Given the description of an element on the screen output the (x, y) to click on. 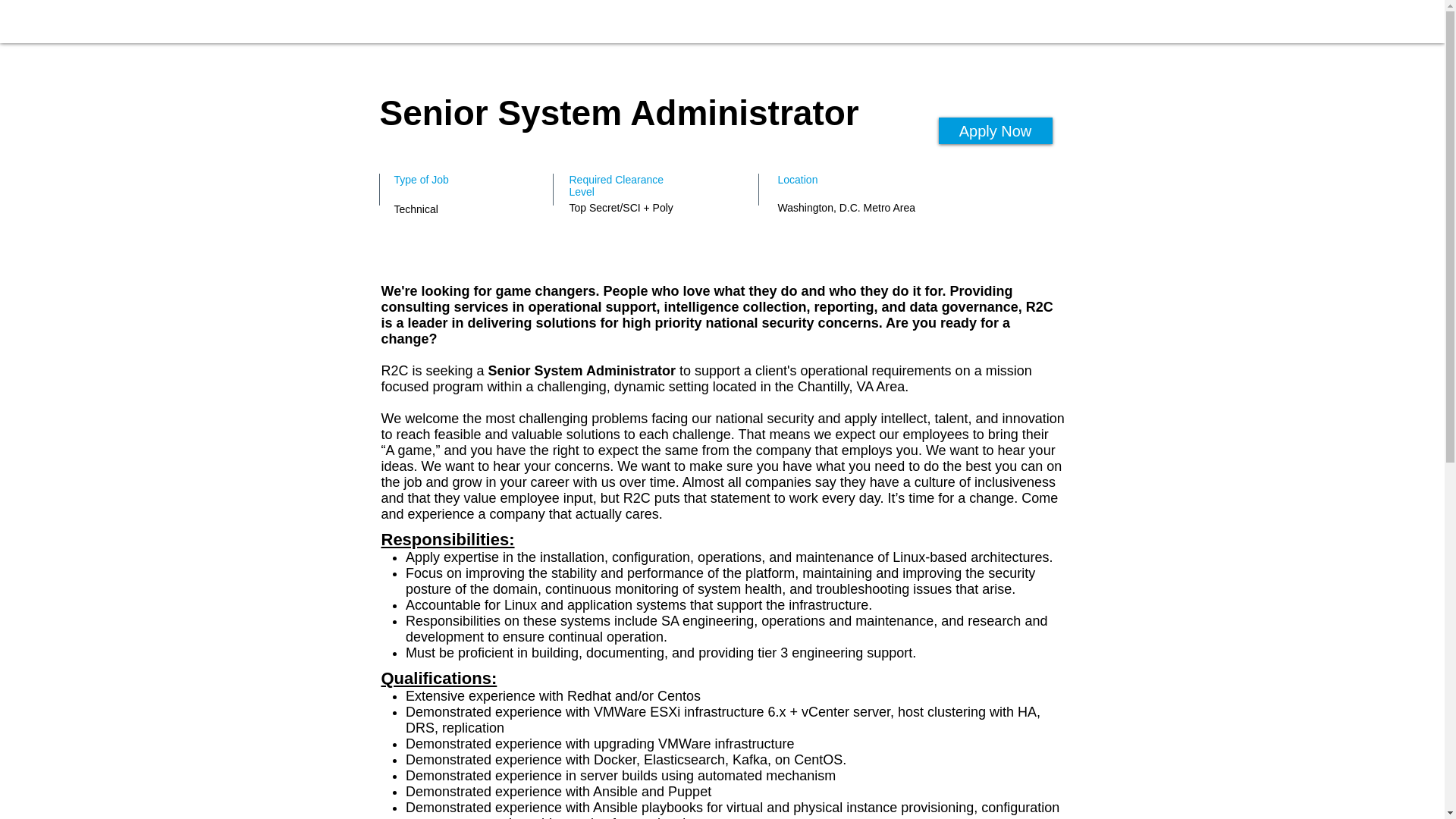
Apply Now (995, 130)
